Given the description of an element on the screen output the (x, y) to click on. 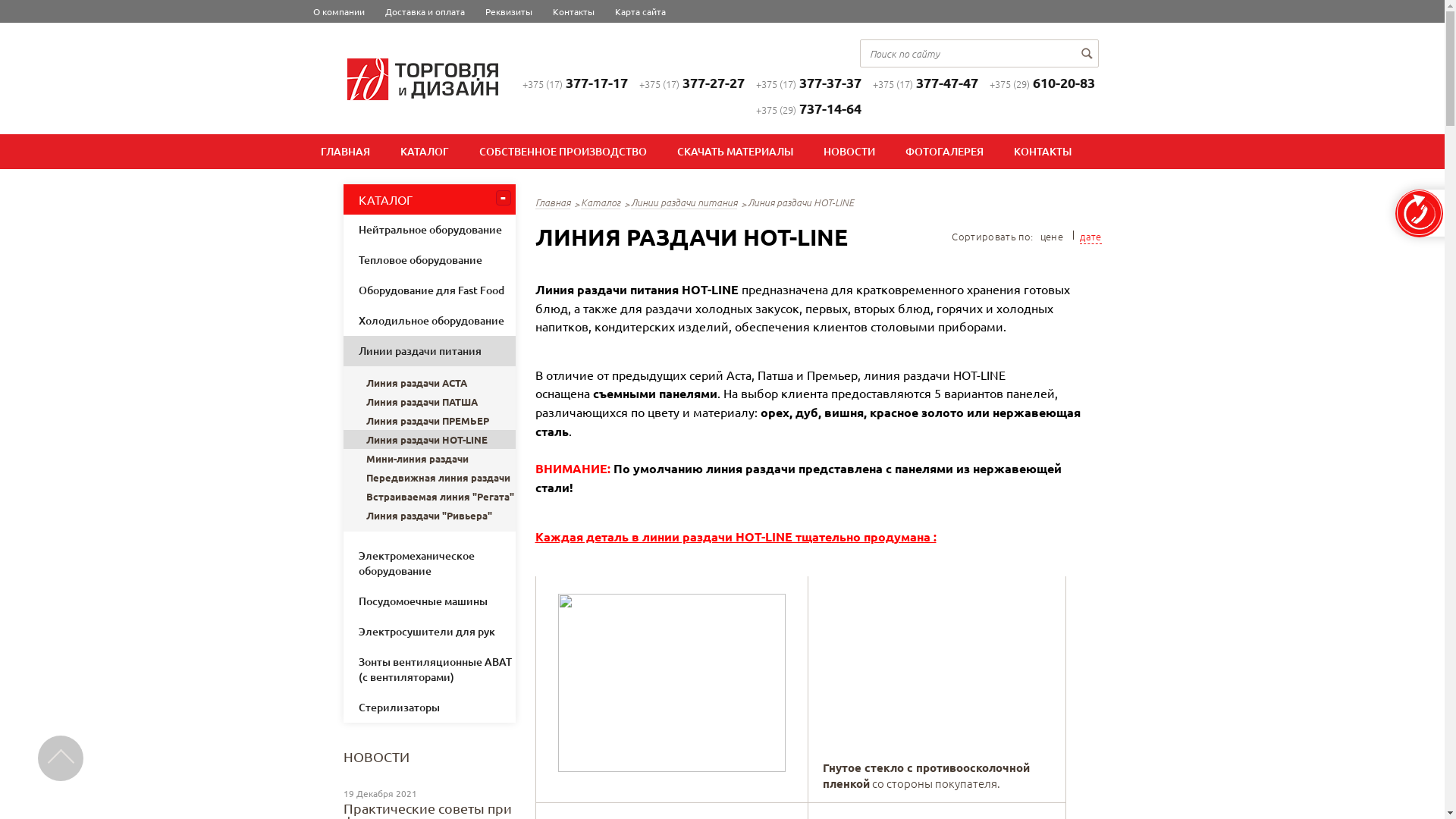
+375 (29)610-20-83 Element type: text (1041, 83)
+375 (29)737-14-64 Element type: text (807, 108)
+375 (17)377-47-47 Element type: text (924, 83)
+375 (17)377-37-37 Element type: text (807, 83)
+375 (17)377-17-17 Element type: text (574, 83)
+375 (17)377-27-27 Element type: text (690, 83)
